Given the description of an element on the screen output the (x, y) to click on. 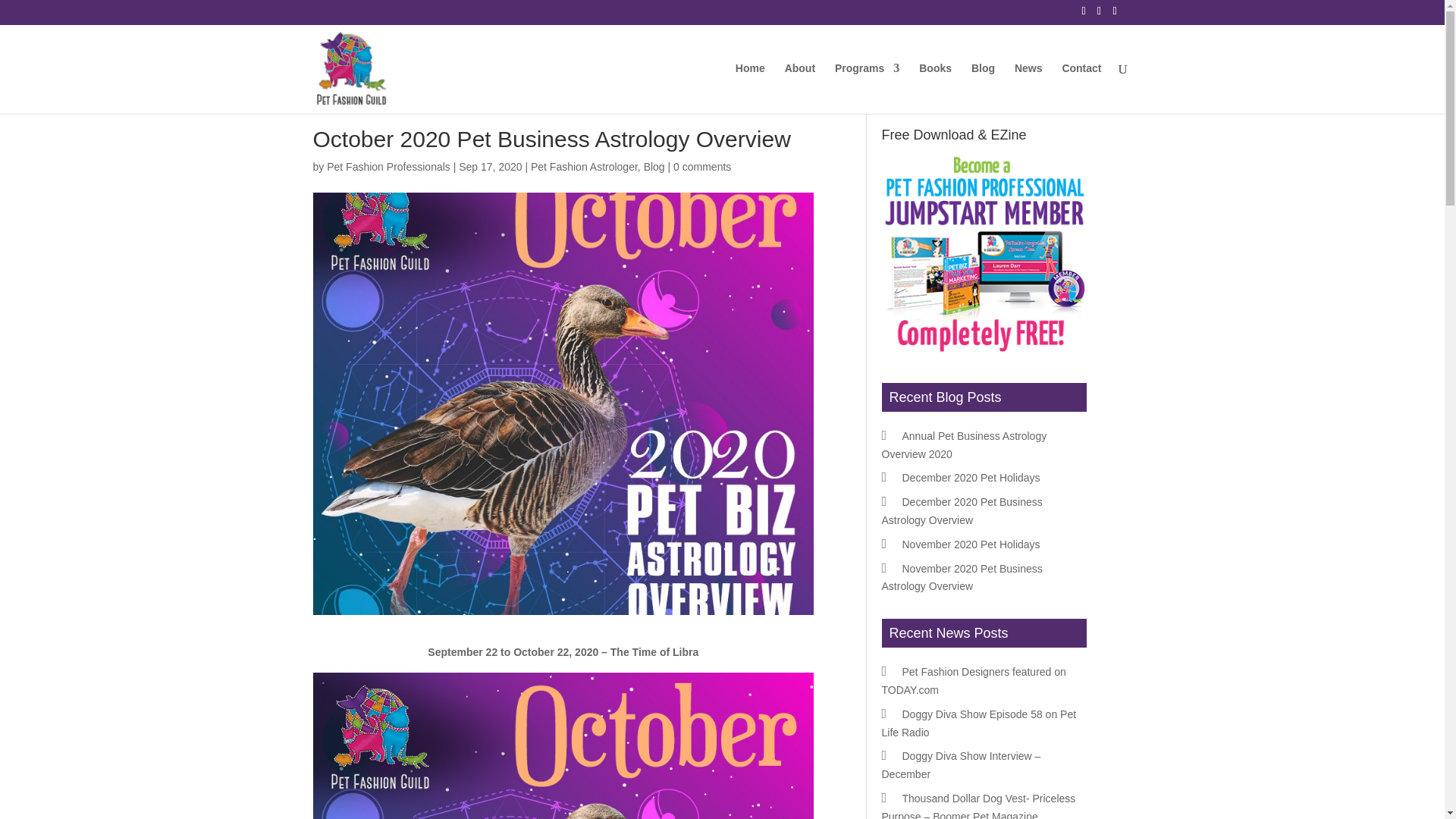
Blog (654, 166)
0 comments (701, 166)
Pet Fashion Professionals (387, 166)
Programs (866, 88)
Posts by Pet Fashion Professionals (387, 166)
Pet Fashion Astrologer (584, 166)
